Given the description of an element on the screen output the (x, y) to click on. 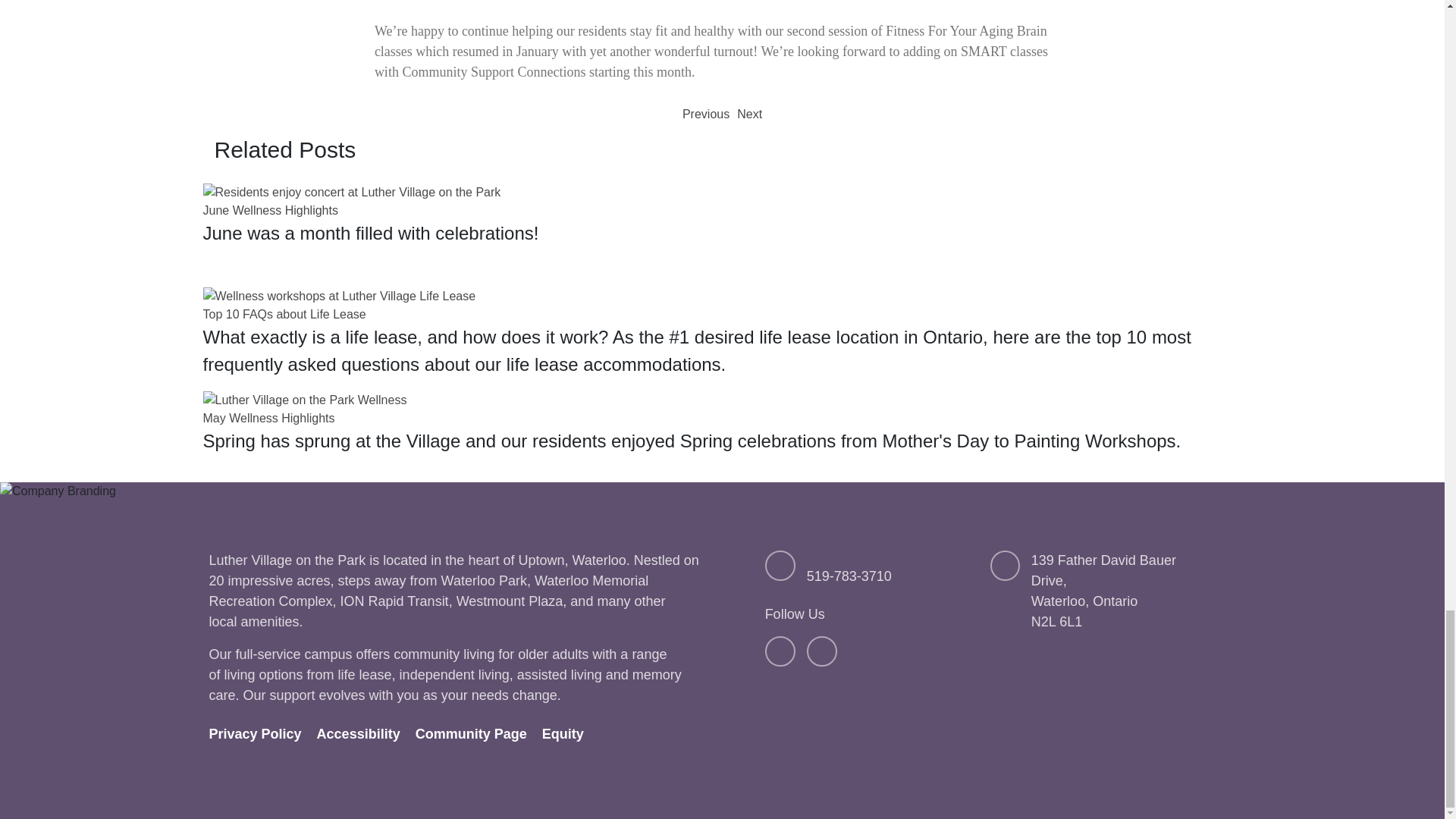
Next (748, 114)
Previous (705, 114)
Top 10 FAQs about Life Lease (285, 314)
519-783-3710 (848, 575)
June Wellness Highlights (1116, 591)
Privacy Policy (270, 210)
May Wellness Highlights (263, 734)
